Given the description of an element on the screen output the (x, y) to click on. 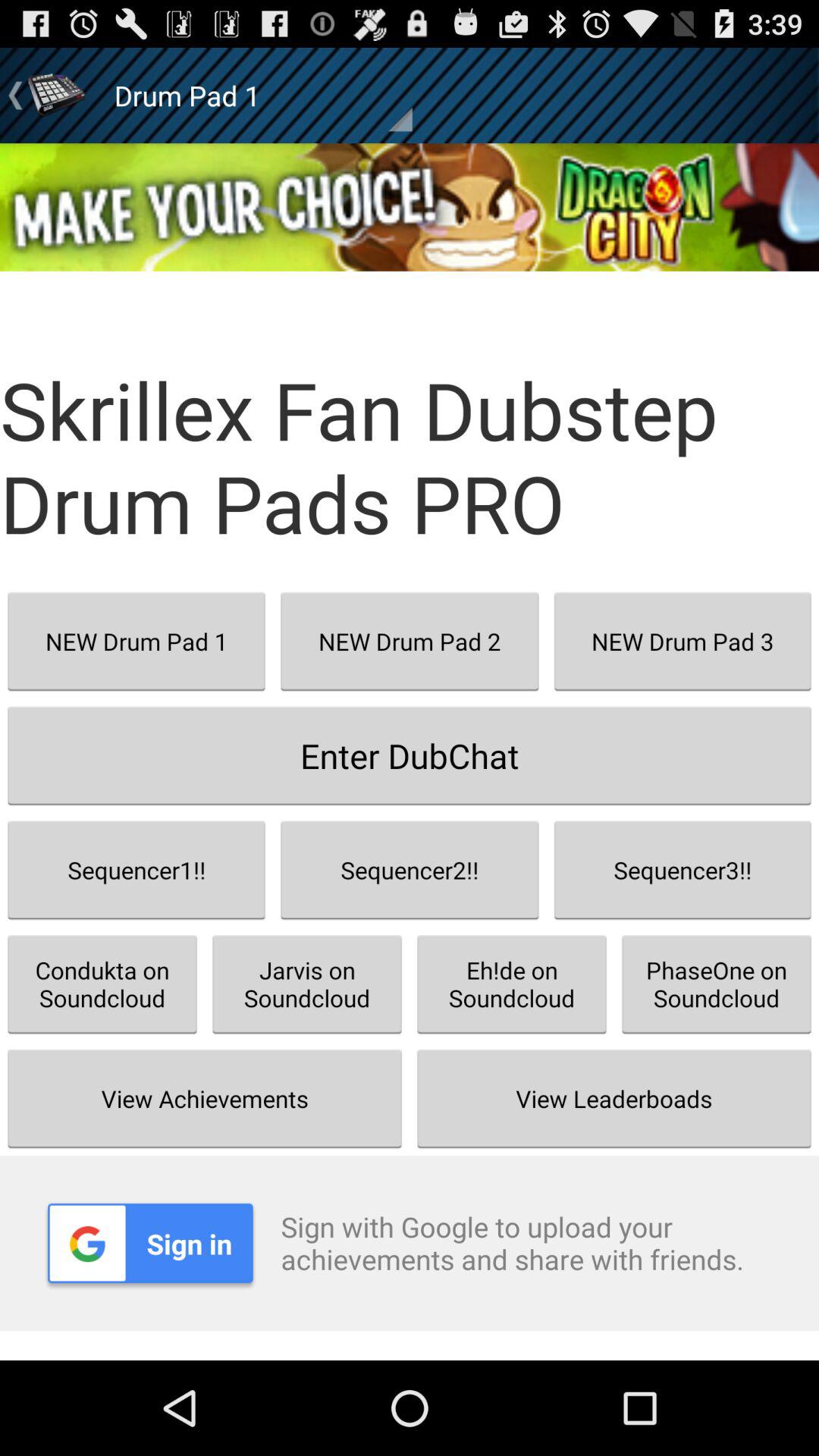
tap item next to the jarvis on soundcloud button (511, 984)
